Given the description of an element on the screen output the (x, y) to click on. 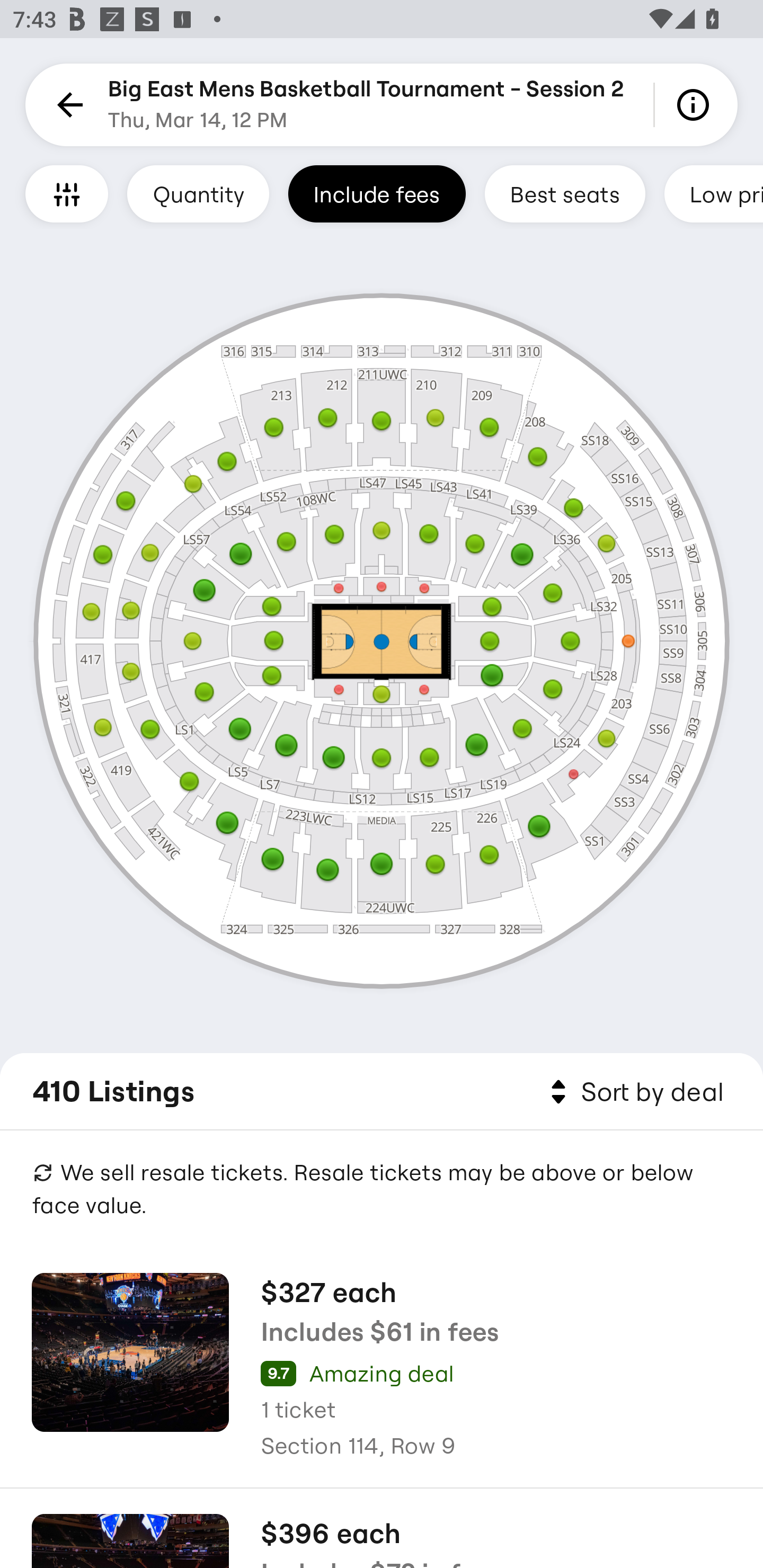
Back (66, 104)
Info (695, 104)
Filters and Accessible Seating (66, 193)
Quantity (198, 193)
Include fees (376, 193)
Best seats (564, 193)
Sort by deal (633, 1091)
